Given the description of an element on the screen output the (x, y) to click on. 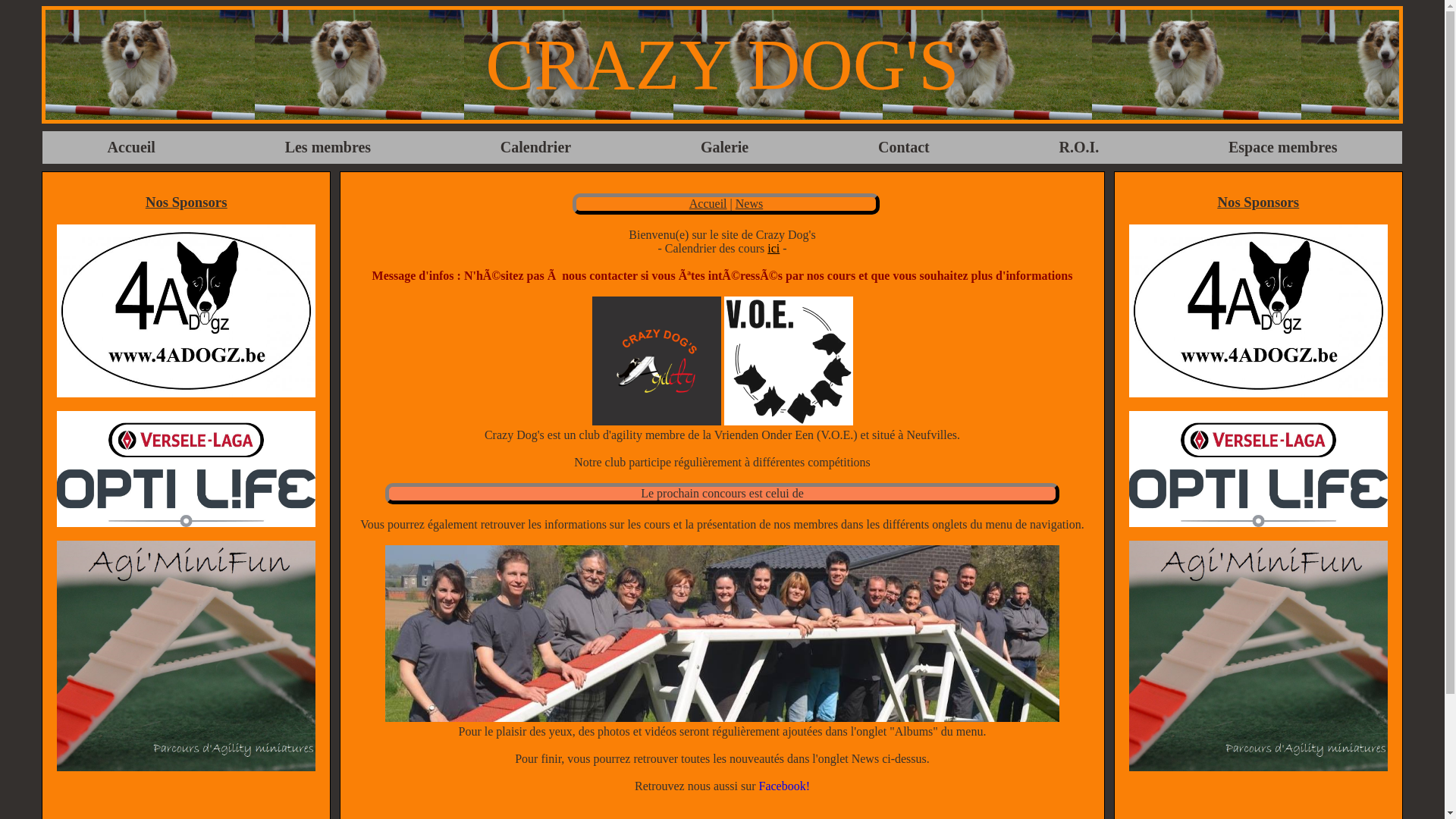
ici Element type: text (773, 247)
Les membres Element type: text (327, 147)
Facebook! Element type: text (783, 785)
Nos Sponsors Element type: text (1258, 255)
Cliquez pour plus d'infos sur 4ADOGZ Element type: hover (185, 310)
Cliquez pour plus d'infos sur 4ADOGZ Element type: hover (1258, 310)
Espace membres Element type: text (1282, 147)
CRAZY DOG'S Element type: text (721, 64)
Galerie Element type: text (724, 147)
Calendrier Element type: text (535, 147)
Nos Sponsors Element type: text (186, 255)
Contact Element type: text (903, 147)
Cliquez pour plus d'infos sur Versele-Laga Element type: hover (185, 469)
Logo du club Element type: hover (655, 360)
R.O.I. Element type: text (1078, 147)
Photo des membres du club Element type: hover (721, 633)
Accueil Element type: text (708, 203)
Accueil Element type: text (131, 147)
Cliquez pour plus d'infos sur z Agi'MiniFun Element type: hover (185, 655)
News Element type: text (748, 203)
Cliquez pour plus d'infos sur Versele-Laga Element type: hover (1258, 469)
Cliquez pour plus d'infos sur z Agi'MiniFun Element type: hover (1258, 655)
